Given the description of an element on the screen output the (x, y) to click on. 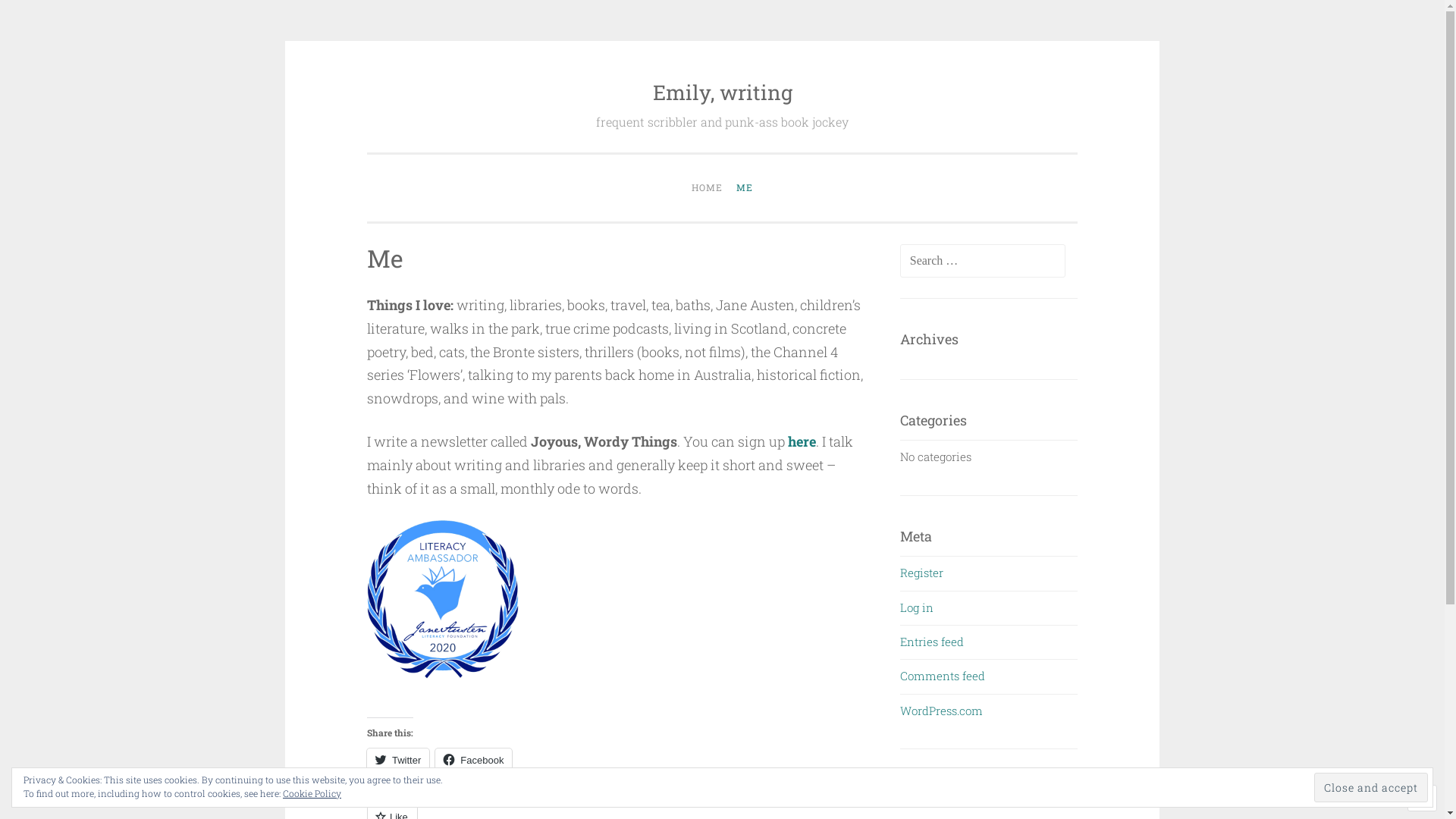
Twitter Element type: text (398, 759)
HOME Element type: text (706, 187)
Search Element type: text (39, 17)
Cookie Policy Element type: text (311, 793)
Facebook Element type: text (473, 759)
Entries feed Element type: text (931, 641)
WordPress.com Element type: text (941, 710)
Log in Element type: text (916, 607)
ME Element type: text (744, 187)
Register Element type: text (921, 572)
here Element type: text (801, 441)
Close and accept Element type: text (1370, 787)
Comments feed Element type: text (942, 675)
Emily, writing Element type: text (721, 91)
